Given the description of an element on the screen output the (x, y) to click on. 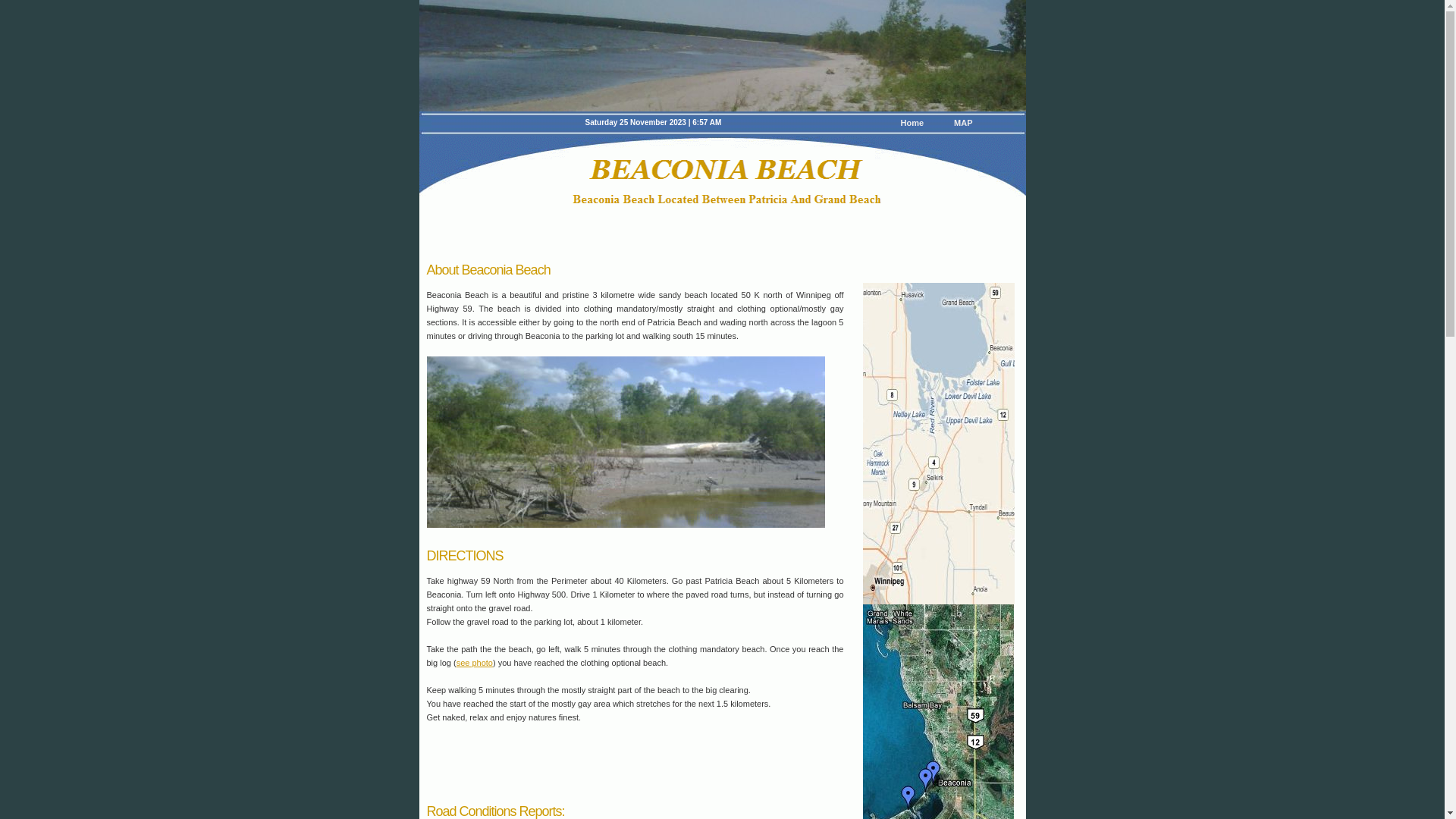
see photo Element type: text (474, 662)
Home Element type: text (911, 122)
MAP Element type: text (962, 122)
Advertisement Element type: hover (603, 760)
